Given the description of an element on the screen output the (x, y) to click on. 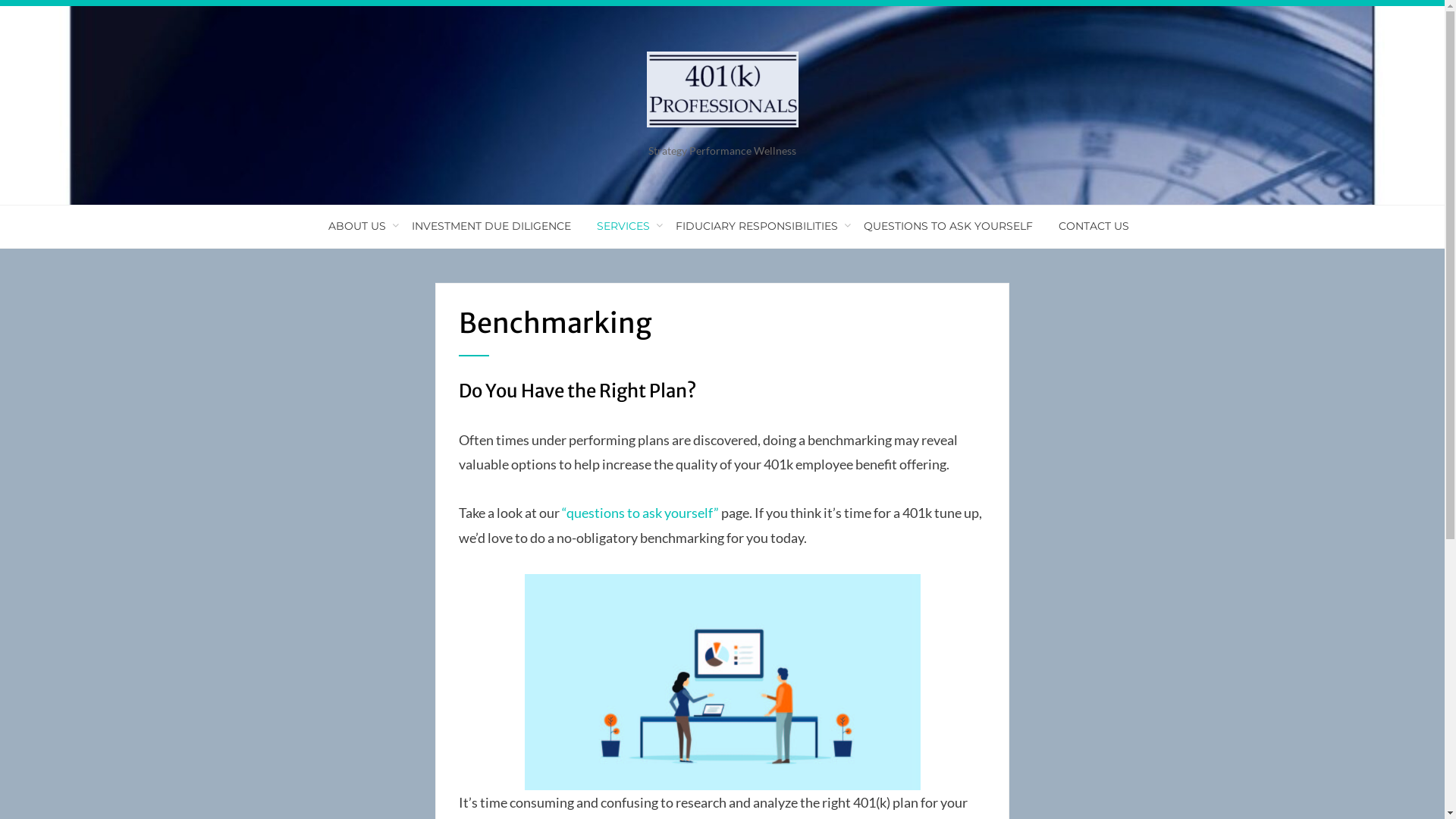
FIDUCIARY RESPONSIBILITIES Element type: text (756, 225)
INVESTMENT DUE DILIGENCE Element type: text (490, 225)
SERVICES Element type: text (622, 225)
ABOUT US Element type: text (356, 225)
QUESTIONS TO ASK YOURSELF Element type: text (947, 225)
CONTACT US Element type: text (1087, 225)
